Given the description of an element on the screen output the (x, y) to click on. 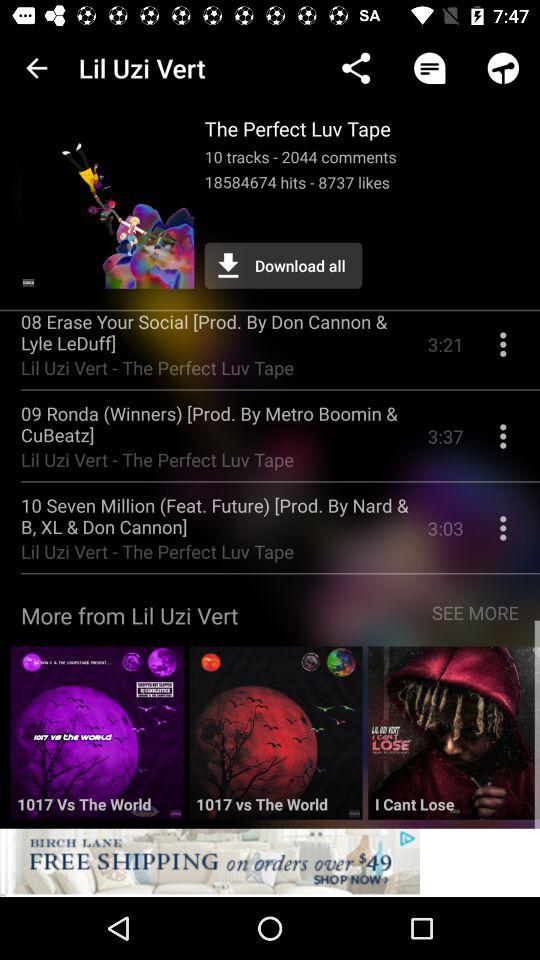
menu options (503, 443)
